Given the description of an element on the screen output the (x, y) to click on. 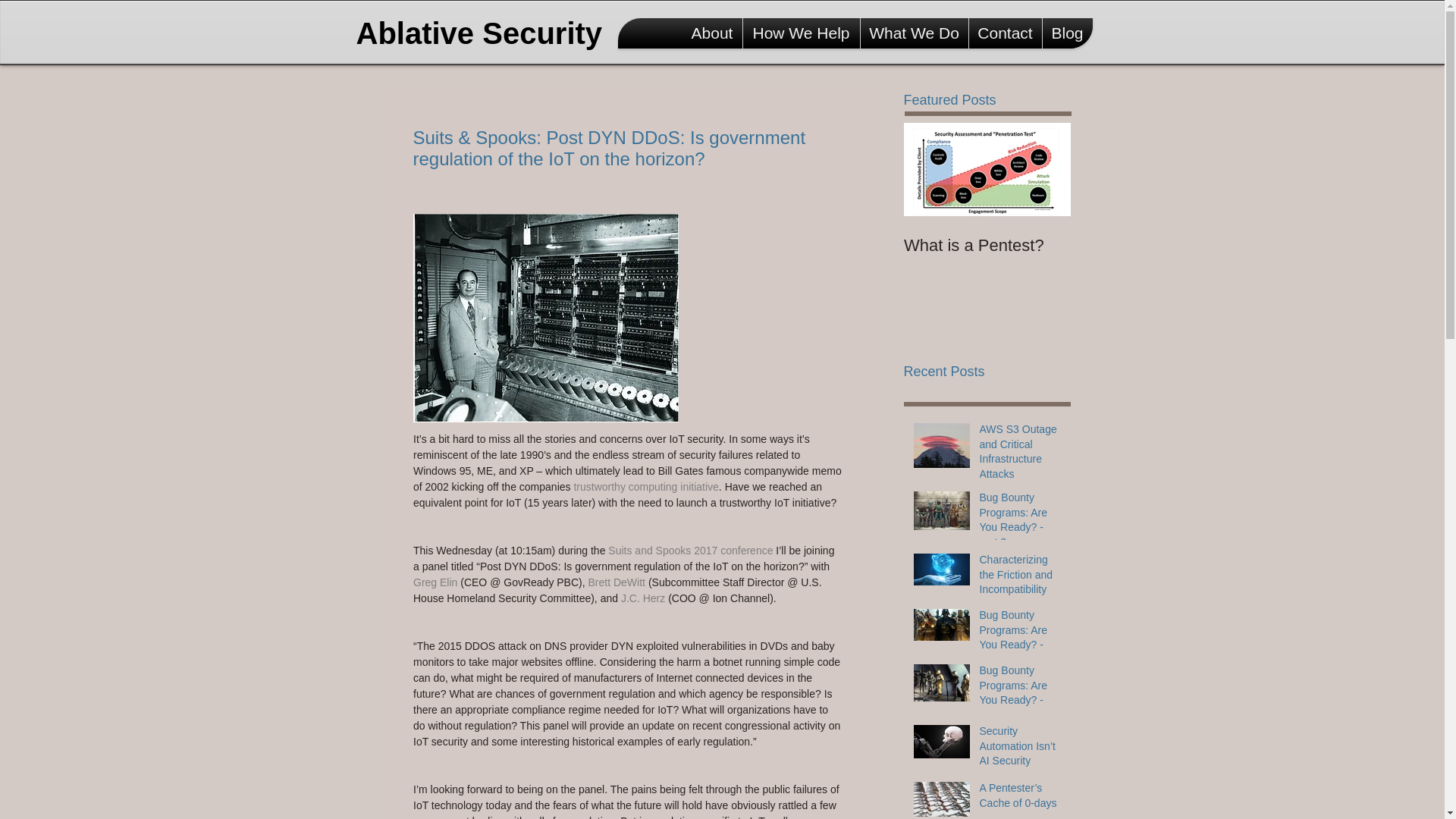
J.C. Herz (641, 598)
Brett DeWitt  (617, 582)
Bug Bounty Programs: Are You Ready? - Part 1 (1020, 695)
Suits and Spooks 2017 conference (690, 550)
Bug Bounty Programs: Are You Ready? - part 3 (1020, 523)
What We Do (914, 33)
Blog (1067, 33)
Contact (1005, 33)
trustworthy computing initiative (645, 486)
How We Help (801, 33)
What is a Pentest? (987, 245)
Greg Elin (434, 582)
Bug Bounty Programs: Are You Ready? - part 2 (1020, 640)
Ablative Security (485, 33)
